Given the description of an element on the screen output the (x, y) to click on. 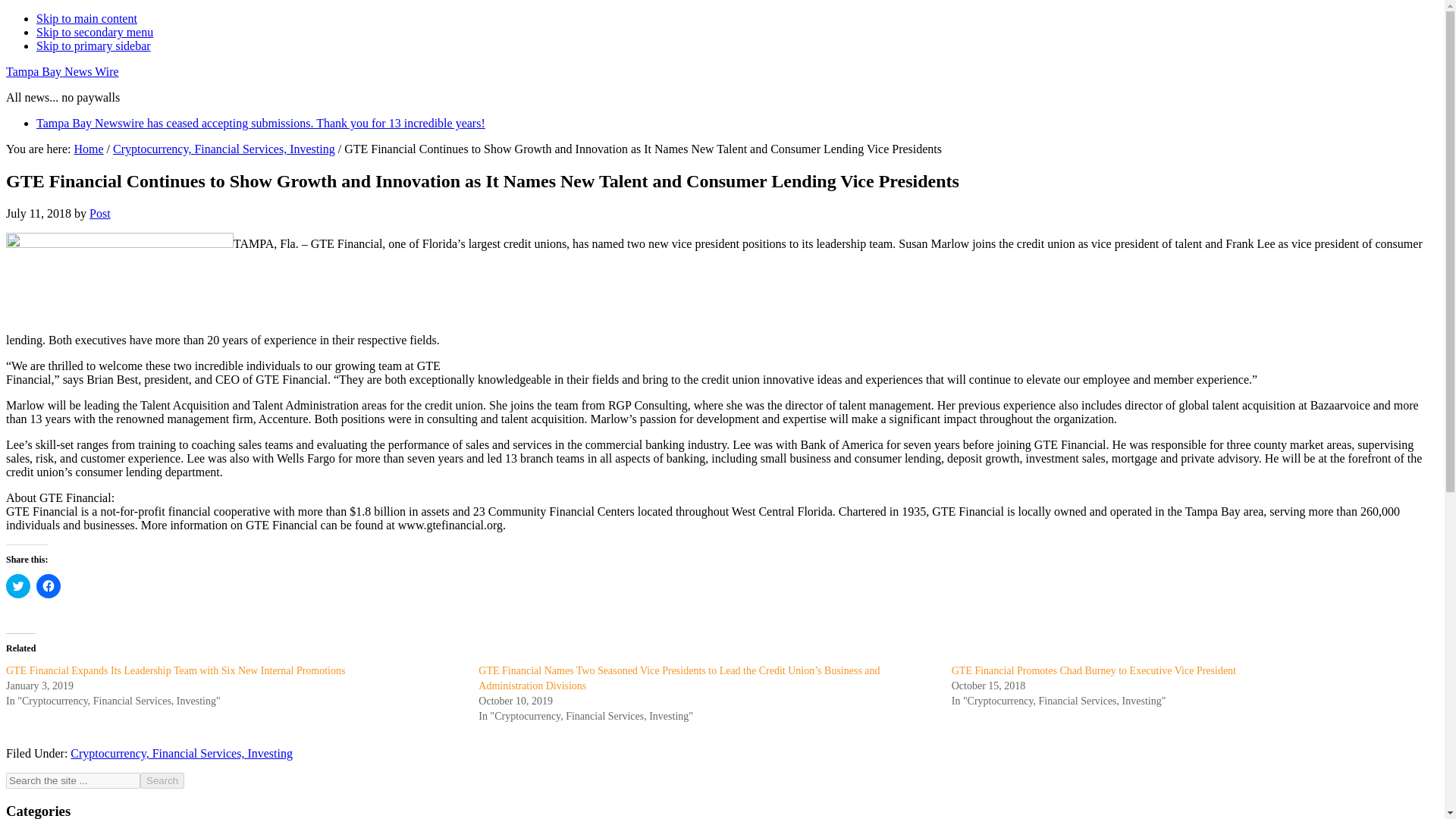
Tampa Bay News Wire (62, 71)
Post (99, 213)
Click to share on Twitter (17, 586)
Skip to primary sidebar (93, 45)
Search (161, 780)
Cryptocurrency, Financial Services, Investing (180, 753)
Skip to secondary menu (94, 31)
Search (161, 780)
Click to share on Facebook (48, 586)
Home (88, 148)
Cryptocurrency, Financial Services, Investing (223, 148)
